Given the description of an element on the screen output the (x, y) to click on. 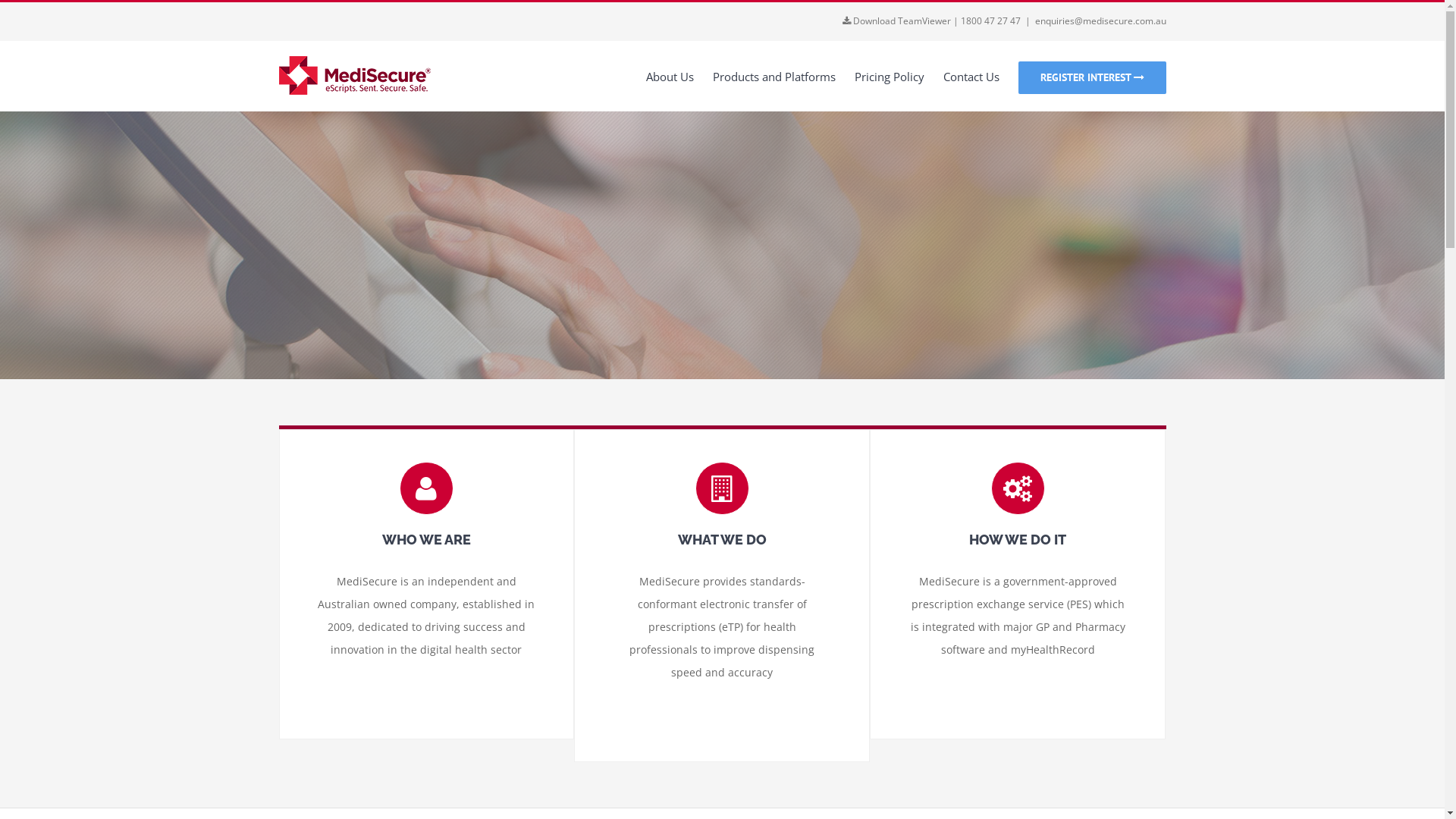
enquiries@medisecure.com.au Element type: text (1099, 20)
About Us Element type: text (669, 75)
Products and Platforms Element type: text (773, 75)
Contact Us Element type: text (971, 75)
Download TeamViewer Element type: text (901, 20)
REGISTER INTEREST Element type: text (1091, 75)
FIND OUT MORE Element type: text (722, 303)
Pricing Policy Element type: text (888, 75)
